Given the description of an element on the screen output the (x, y) to click on. 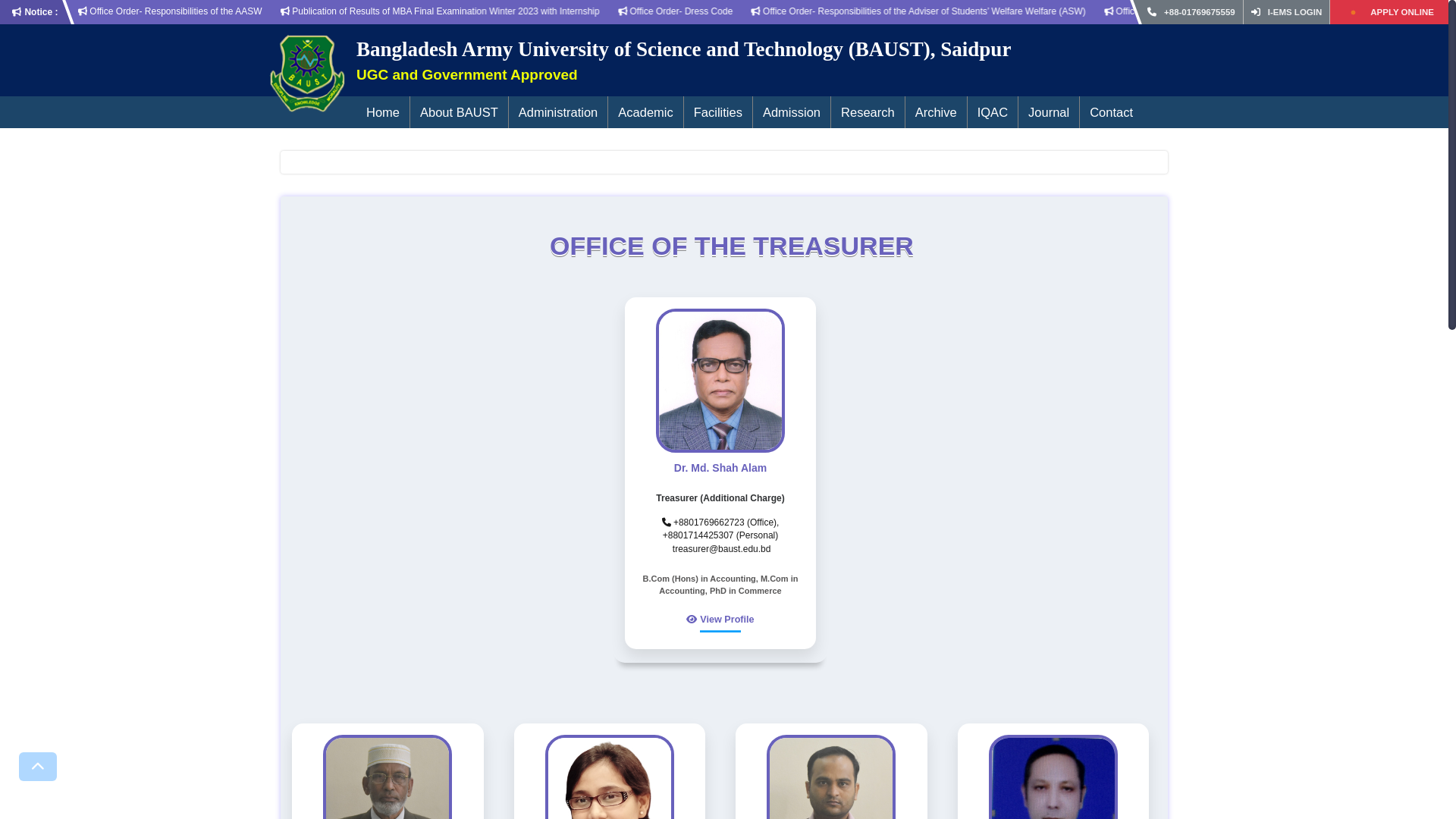
Go to top Element type: hover (37, 766)
View Profile Element type: text (724, 619)
Administration Element type: text (558, 112)
Facilities Element type: text (718, 112)
Academic Element type: text (645, 112)
APPLY ONLINE Element type: text (1402, 12)
Office Order- Dress Code Element type: text (1135, 11)
IQAC Element type: text (992, 112)
I-EMS LOGIN Element type: text (1286, 12)
+88-01769675559 Element type: text (1199, 12)
Admission Element type: text (791, 112)
Office Order- Responsibilities of the AASW Element type: text (632, 11)
Contact Element type: text (1110, 112)
Journal Element type: text (1048, 112)
Archive Element type: text (935, 112)
About BAUST Element type: text (459, 112)
Home Element type: text (382, 112)
Research Element type: text (867, 112)
